Given the description of an element on the screen output the (x, y) to click on. 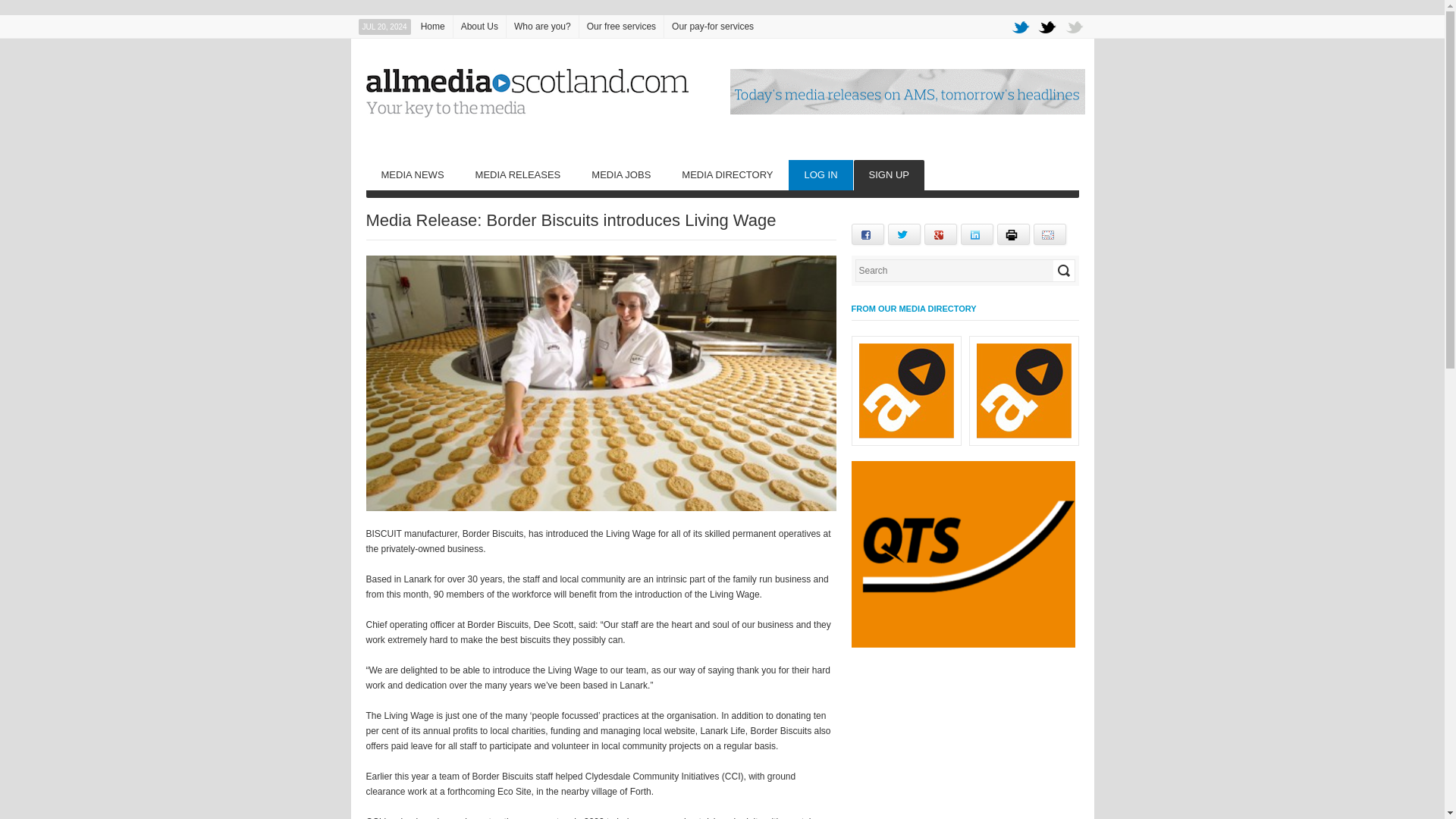
media release service, media release distribution (518, 174)
MEDIA NEWS (411, 174)
MEDIA JOBS (620, 174)
Media jobs, media careers, jobs in the media (620, 174)
About Us (478, 26)
Search (1063, 270)
Our free services (621, 26)
MEDIA RELEASES (518, 174)
Who are you? (542, 26)
Home (432, 26)
Our pay-for services (712, 26)
